Given the description of an element on the screen output the (x, y) to click on. 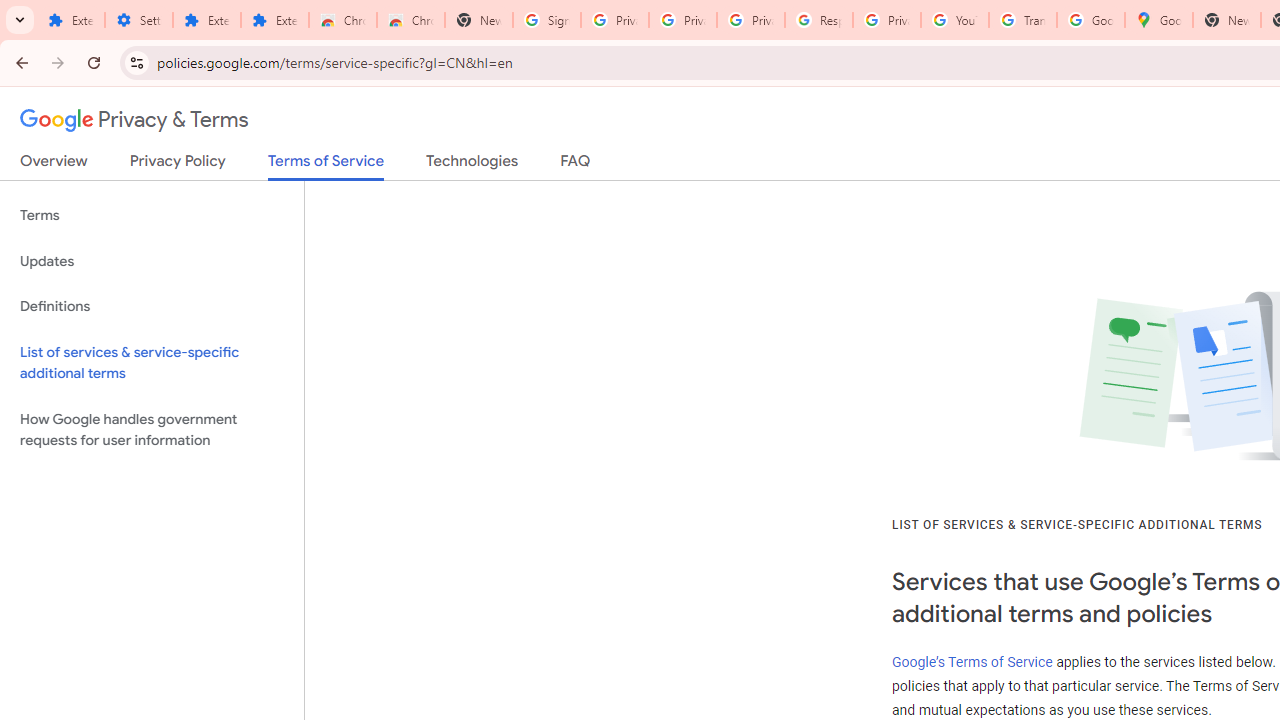
YouTube (954, 20)
